Given the description of an element on the screen output the (x, y) to click on. 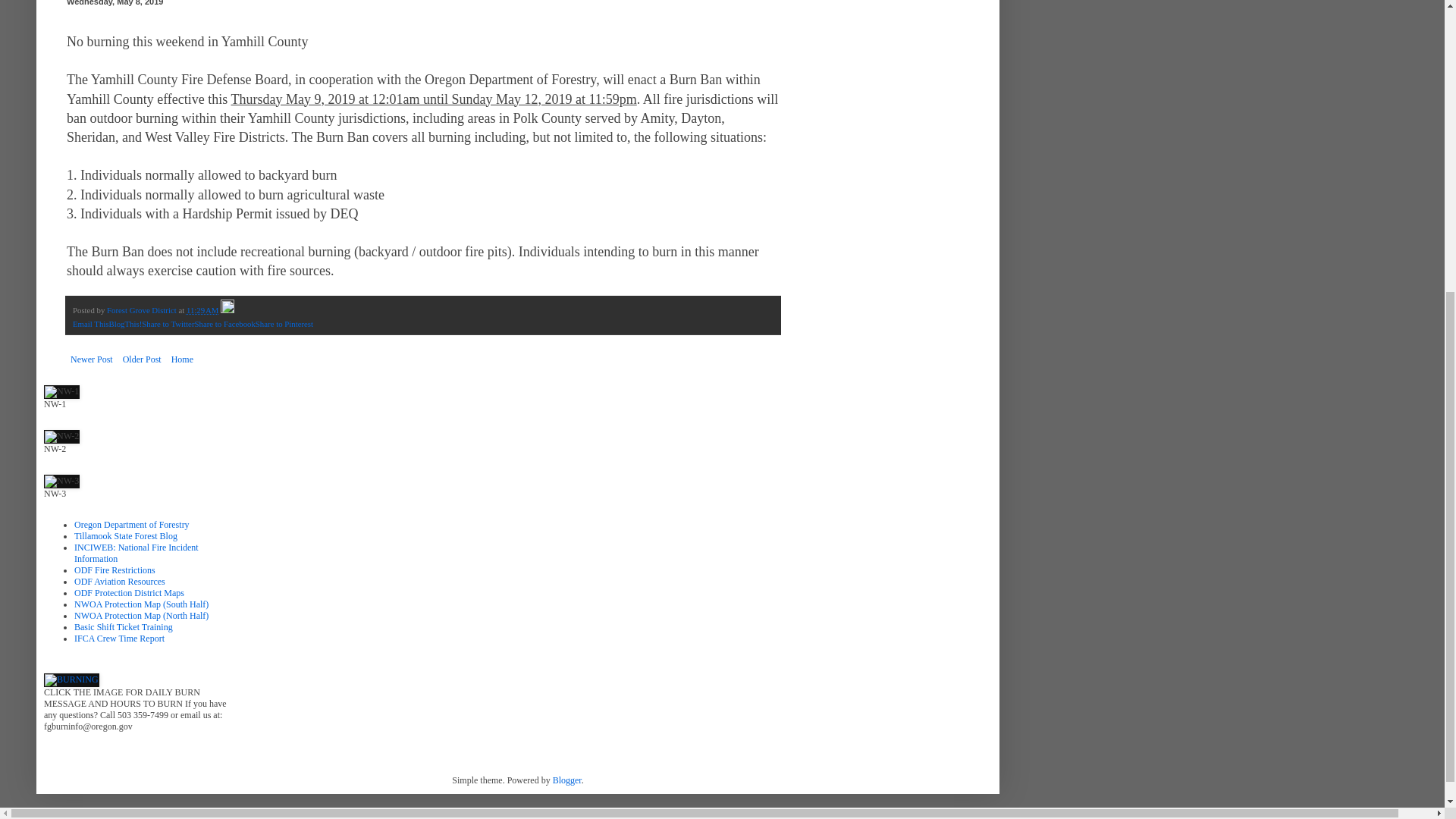
ODF Protection District Maps (129, 593)
Older Post (142, 359)
Oregon Department of Forestry (131, 524)
Share to Facebook (223, 323)
Newer Post (91, 359)
BlogThis! (124, 323)
Share to Facebook (223, 323)
Share to Twitter (167, 323)
permanent link (202, 309)
Share to Pinterest (284, 323)
Share to Twitter (167, 323)
Basic Shift Ticket Training (123, 626)
Edit Post (227, 309)
ODF Fire Restrictions (114, 570)
Share to Pinterest (284, 323)
